Given the description of an element on the screen output the (x, y) to click on. 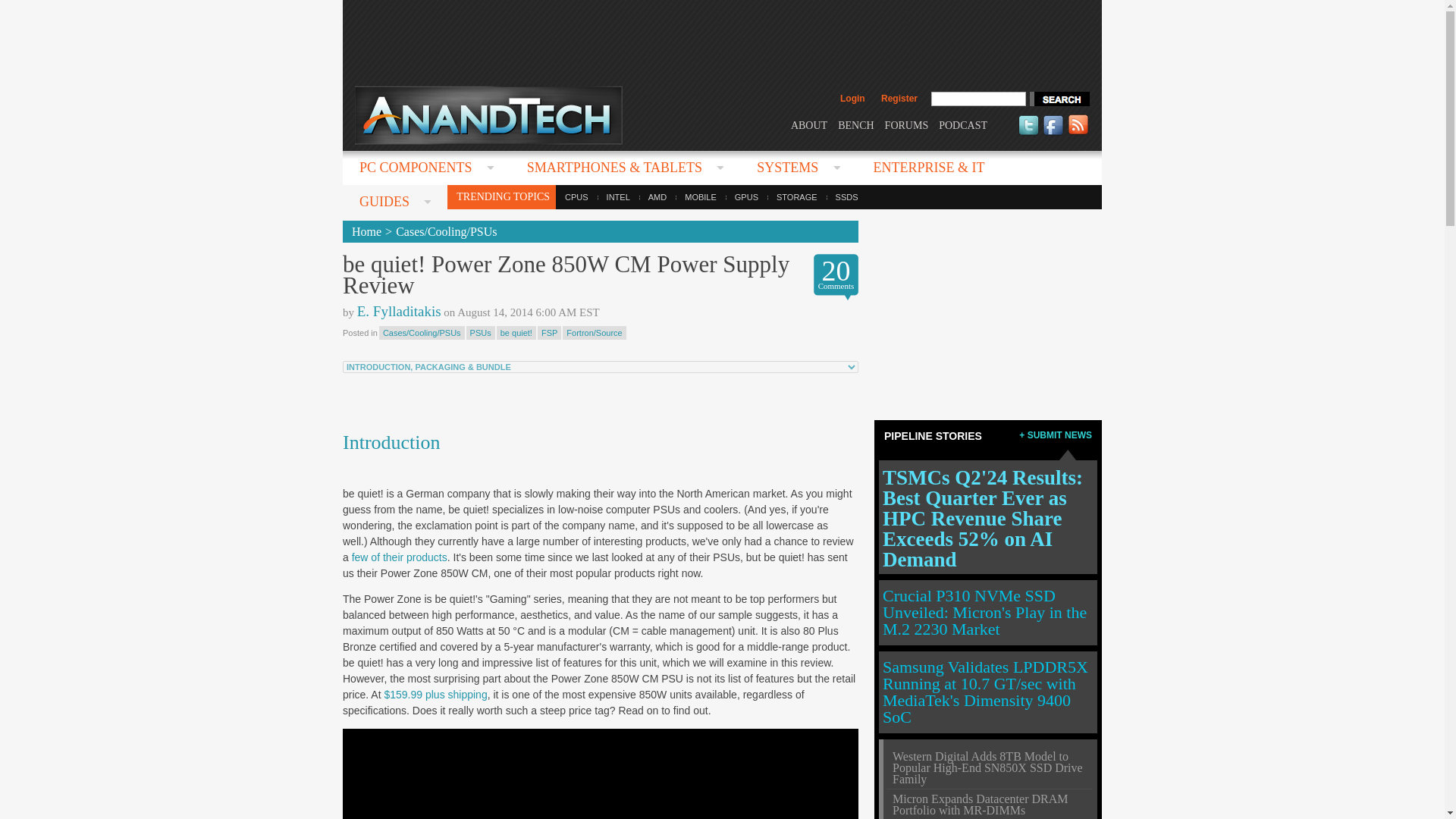
search (1059, 98)
BENCH (855, 125)
Login (852, 98)
Register (898, 98)
FORUMS (906, 125)
ABOUT (808, 125)
search (1059, 98)
PODCAST (963, 125)
search (1059, 98)
